Given the description of an element on the screen output the (x, y) to click on. 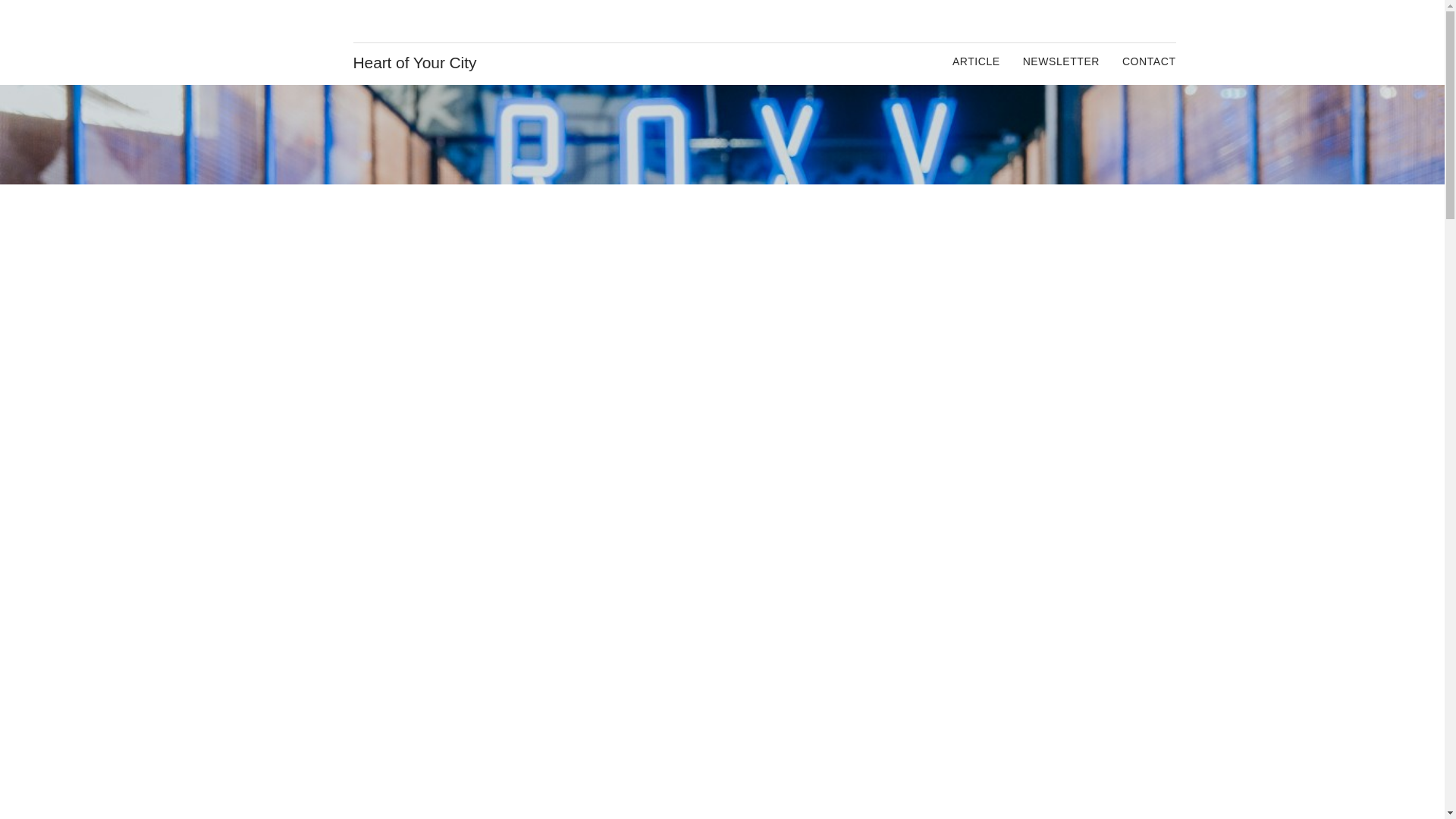
ARTICLE (976, 61)
Heart of Your City (415, 62)
NEWSLETTER (1061, 61)
ARTICLE (976, 61)
NEWSLETTER (1061, 61)
Heart of the city Sheffield (298, 42)
CONTACT (1149, 61)
CONTACT (1149, 61)
